Given the description of an element on the screen output the (x, y) to click on. 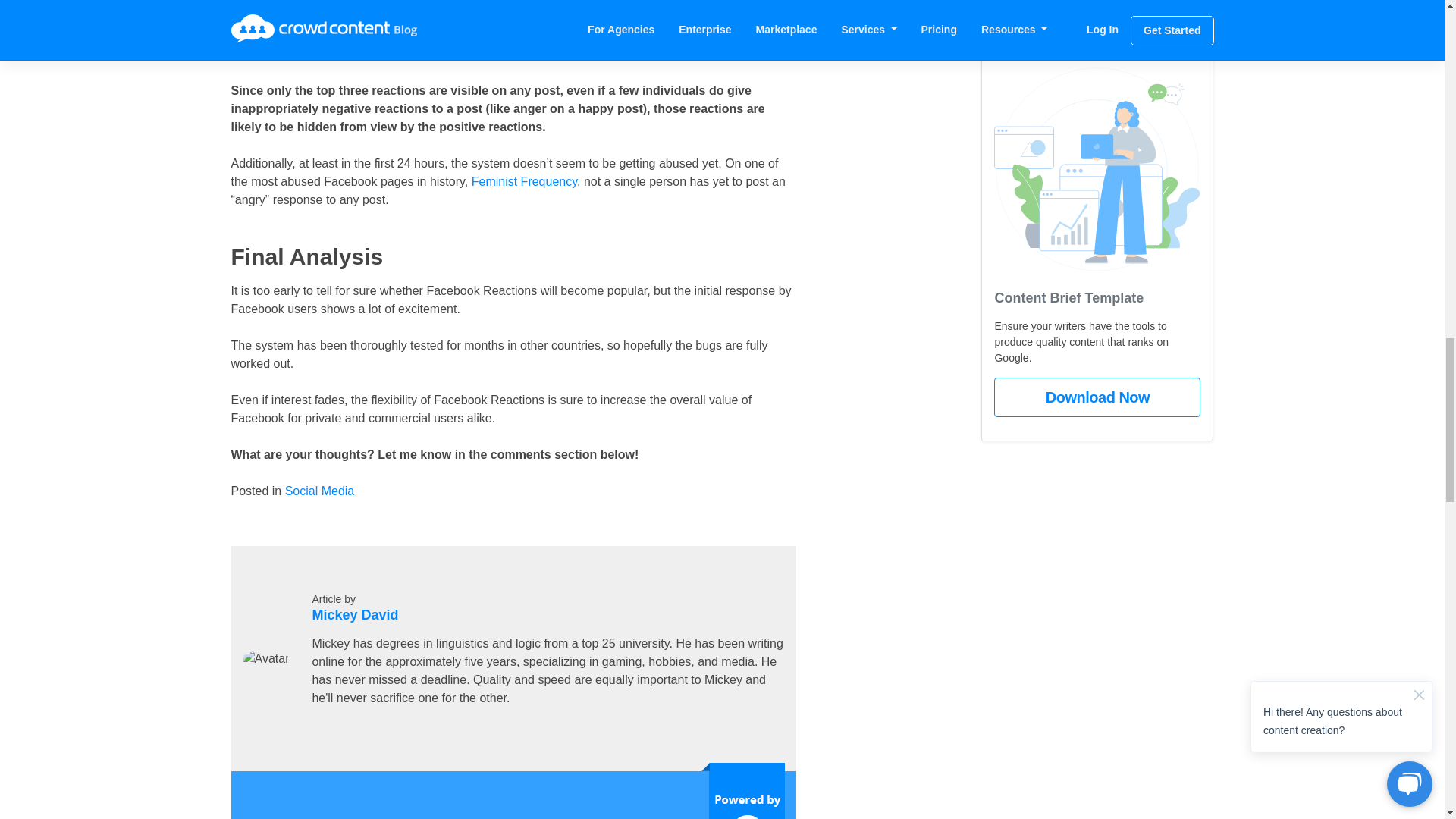
Social Media (320, 490)
Feminist Frequency (523, 181)
Facebook Reactions can actually be used to fight bullying (564, 17)
Mickey David (354, 614)
